Given the description of an element on the screen output the (x, y) to click on. 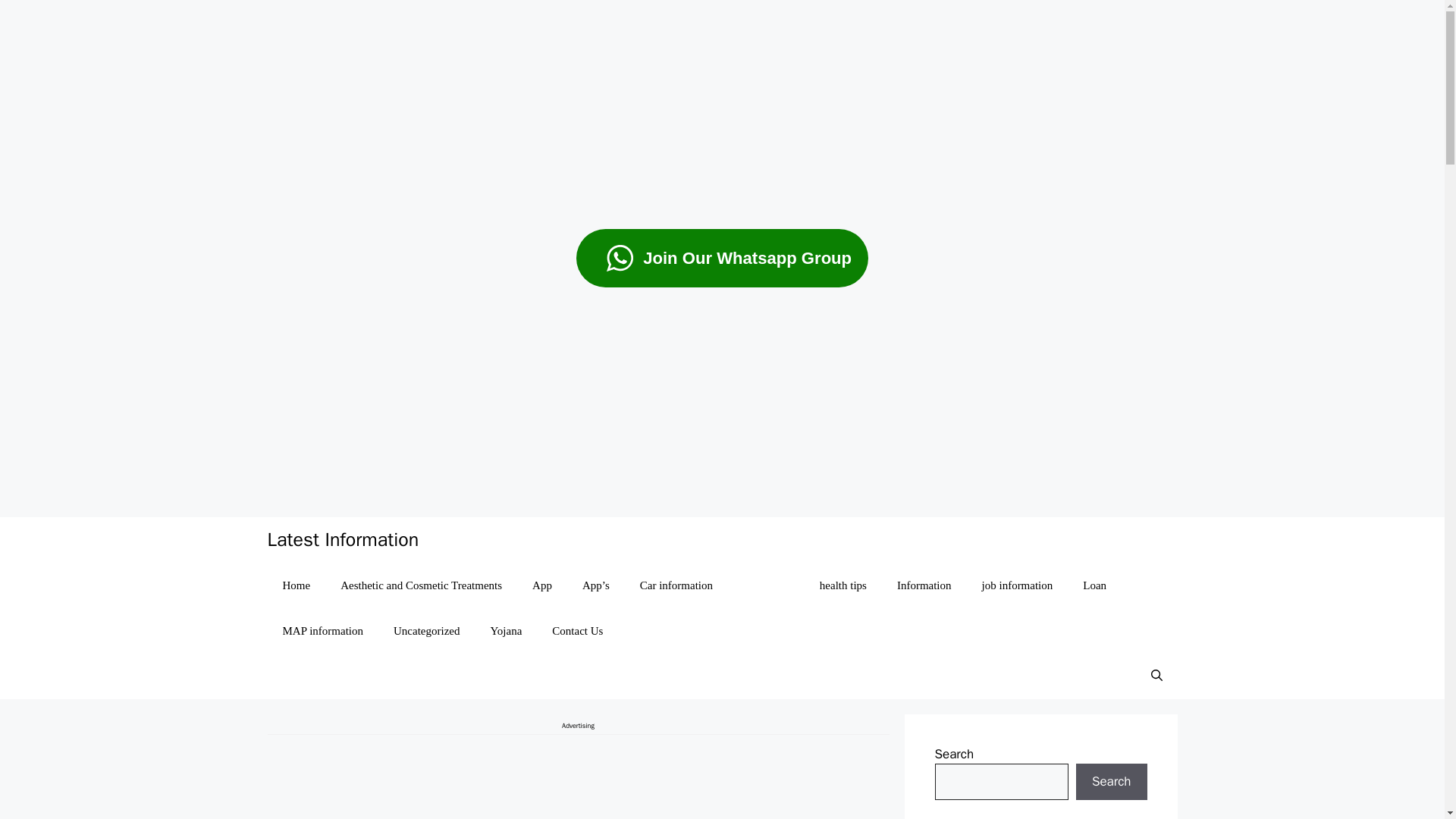
Latest Information (342, 539)
Aesthetic and Cosmetic Treatments (420, 585)
Home (295, 585)
MAP information (322, 630)
Uncategorized (426, 630)
Car information (676, 585)
Education (766, 585)
health tips (843, 585)
Yojana (505, 630)
Information (924, 585)
Advertisement (577, 777)
Search (1111, 781)
Contact Us (577, 630)
App (541, 585)
